Given the description of an element on the screen output the (x, y) to click on. 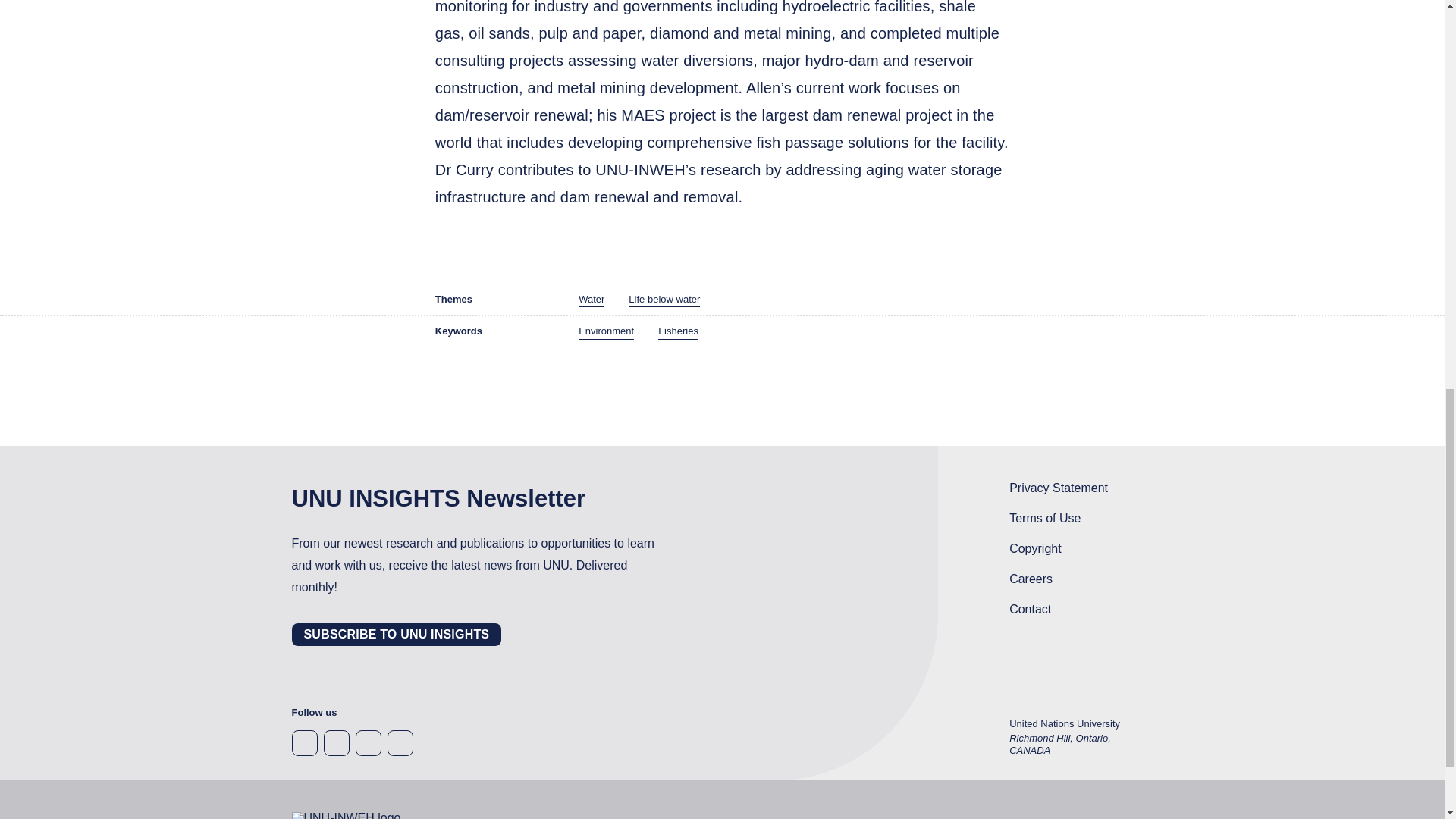
facebook (304, 742)
youtube (399, 742)
linkedin (336, 742)
twitter (367, 742)
